Given the description of an element on the screen output the (x, y) to click on. 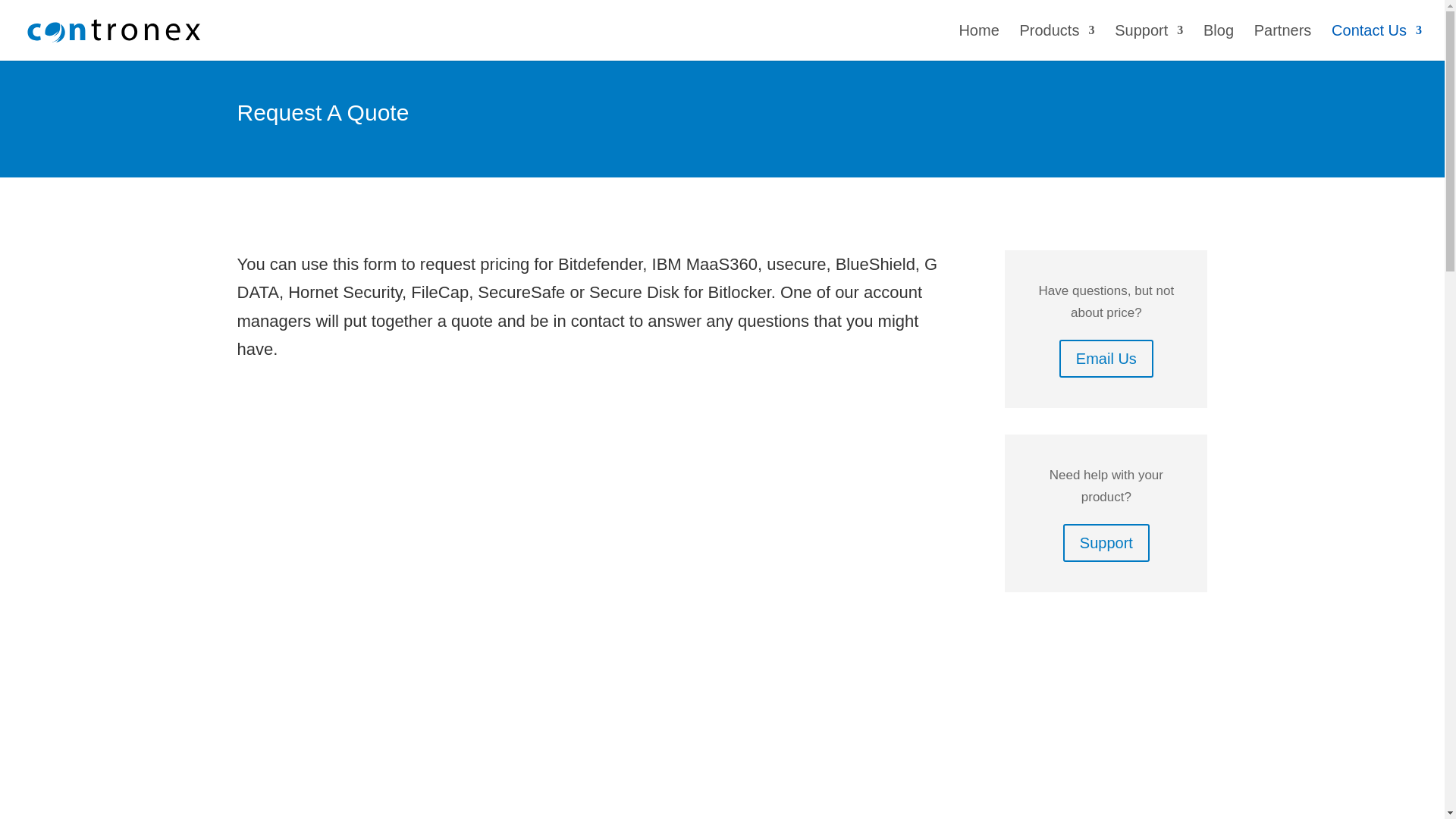
Support (1148, 42)
Contact Us (1377, 42)
Products (1056, 42)
Home (978, 42)
Partners (1282, 42)
